Given the description of an element on the screen output the (x, y) to click on. 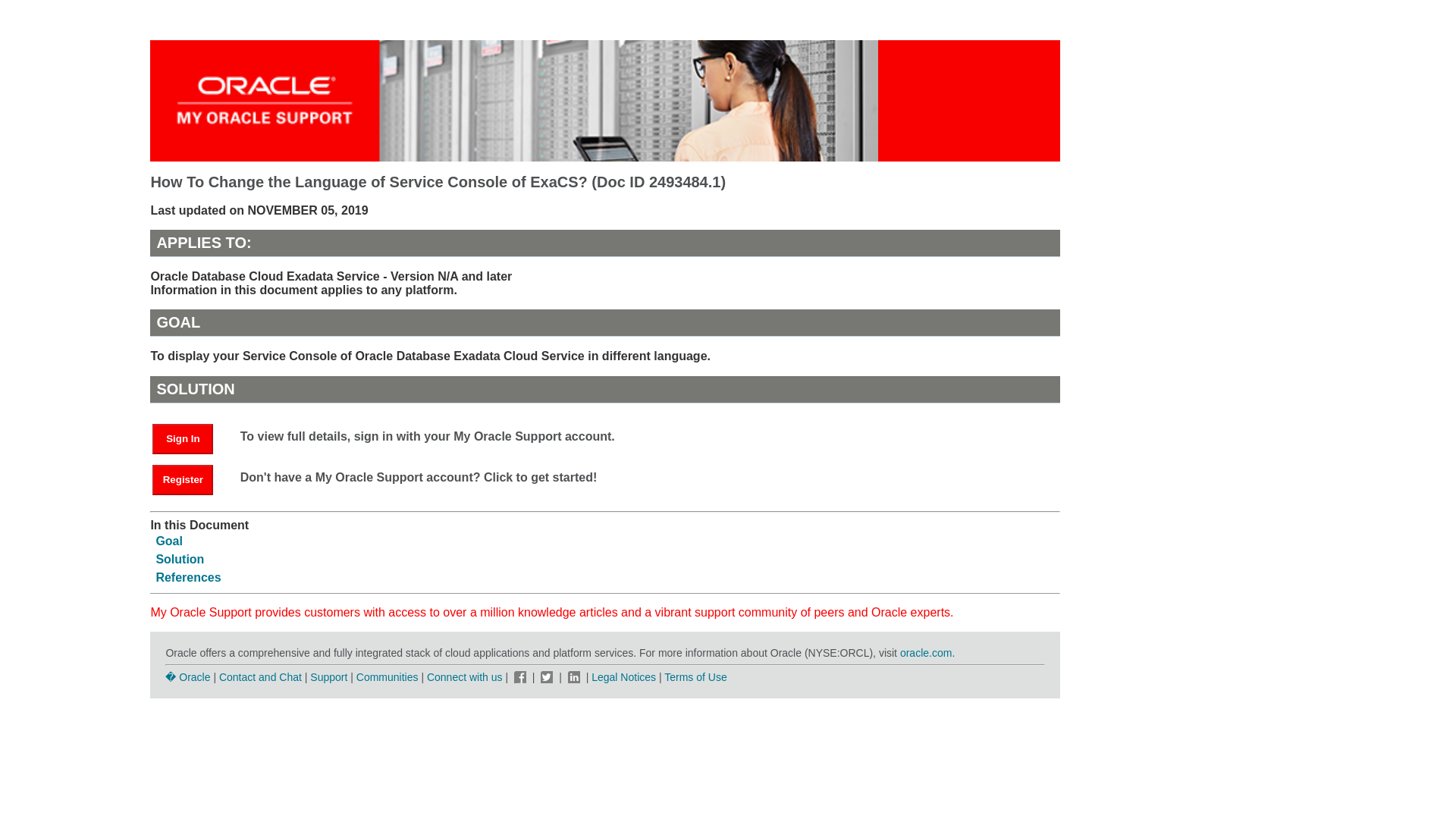
Goal (169, 540)
oracle.com (925, 653)
oracle.com (925, 653)
Register (190, 478)
Legal Notices (623, 676)
Sign In (182, 439)
References (188, 576)
Sign In (190, 437)
Communities (387, 676)
Register (182, 480)
